Given the description of an element on the screen output the (x, y) to click on. 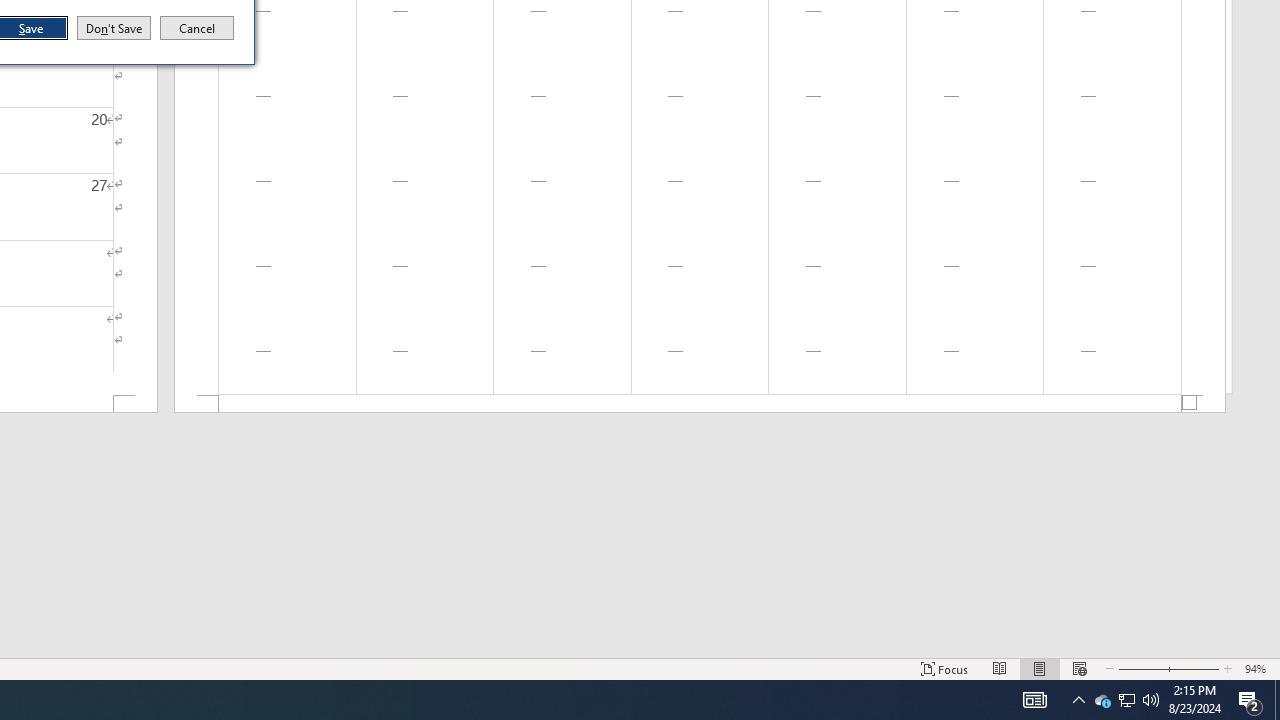
User Promoted Notification Area (1126, 699)
Don't Save (113, 27)
Cancel (197, 27)
AutomationID: 4105 (1034, 699)
Notification Chevron (1078, 699)
Q2790: 100% (1151, 699)
Show desktop (1126, 699)
